Given the description of an element on the screen output the (x, y) to click on. 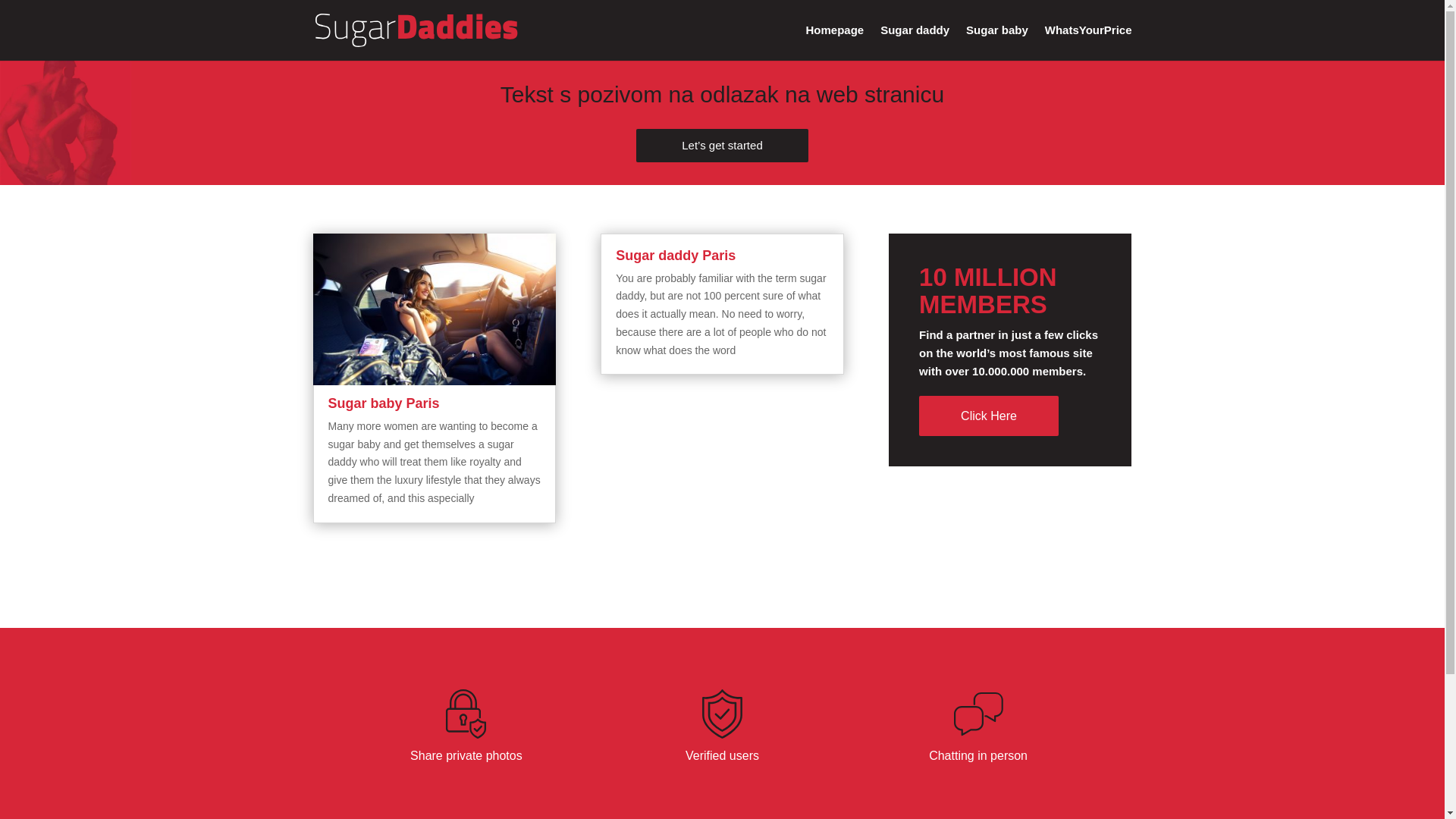
Sugar baby Paris (383, 403)
Sugar daddy Paris (675, 254)
WhatsYourPrice (1088, 42)
Sugar daddy (914, 42)
Sugar baby (996, 42)
Homepage (835, 42)
Click Here (988, 415)
